Given the description of an element on the screen output the (x, y) to click on. 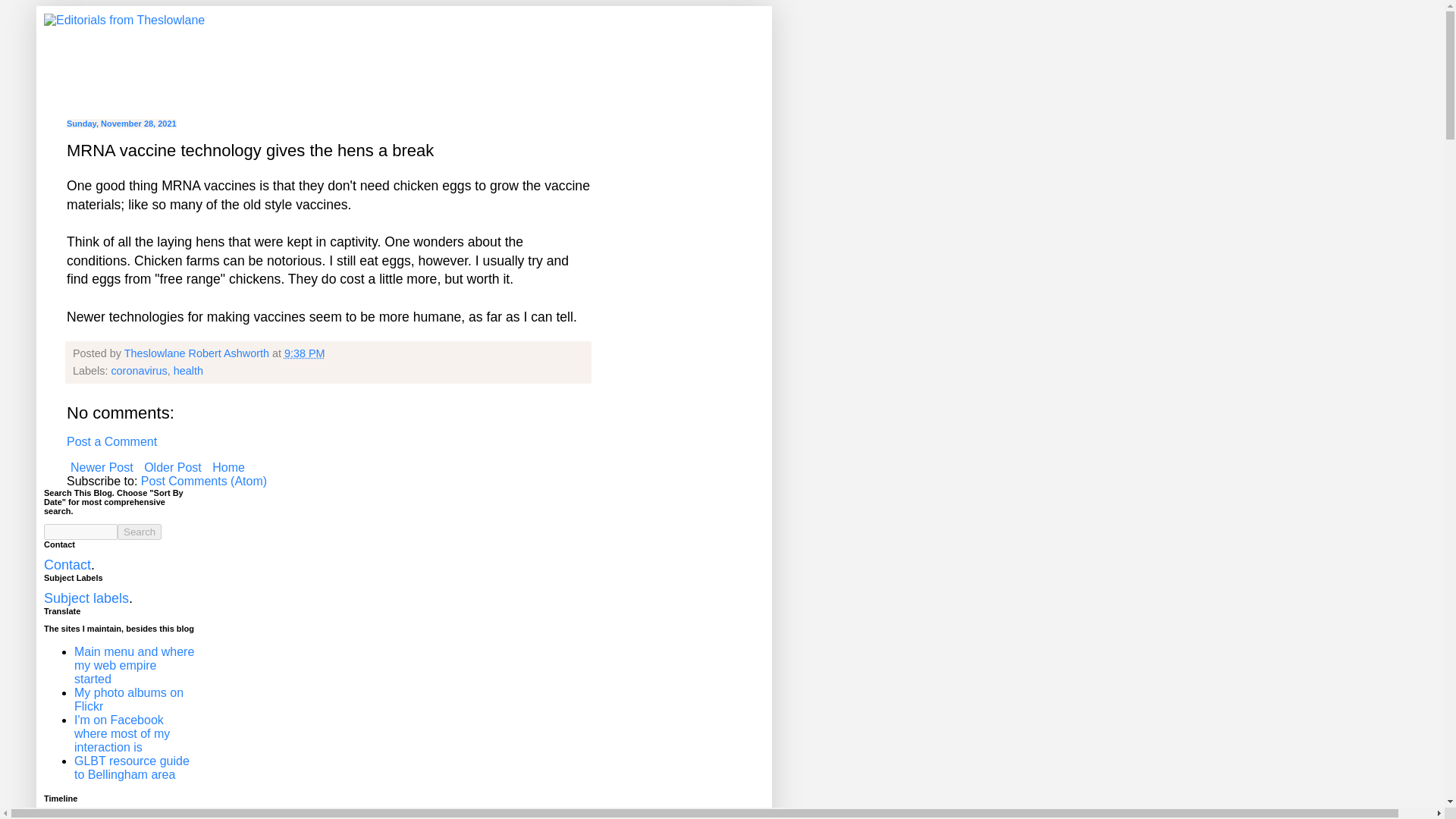
I'm on Facebook where most of my interaction is (122, 733)
Email Post (335, 353)
author profile (197, 353)
GLBT resource guide to Bellingham area (131, 767)
Post a Comment (111, 440)
search (80, 531)
2024 (108, 816)
Search (139, 531)
Newer Post (101, 467)
Theslowlane Robert Ashworth (197, 353)
Search (139, 531)
Newer Post (101, 467)
Older Post (172, 467)
Search (139, 531)
Contact (66, 564)
